Given the description of an element on the screen output the (x, y) to click on. 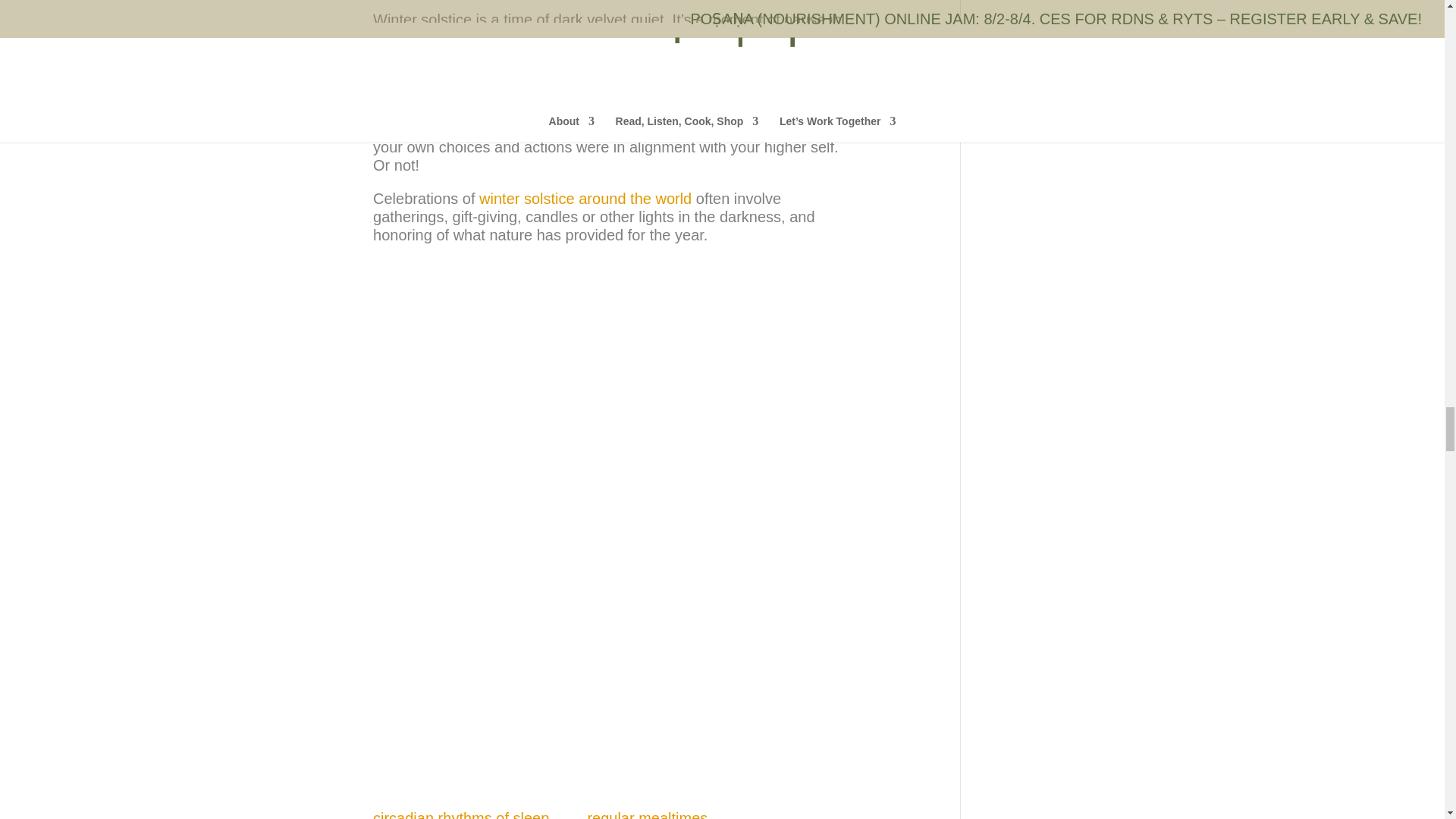
circadian rhythms of sleep (460, 814)
winter solstice around the world (585, 198)
regular mealtimes (646, 814)
